Given the description of an element on the screen output the (x, y) to click on. 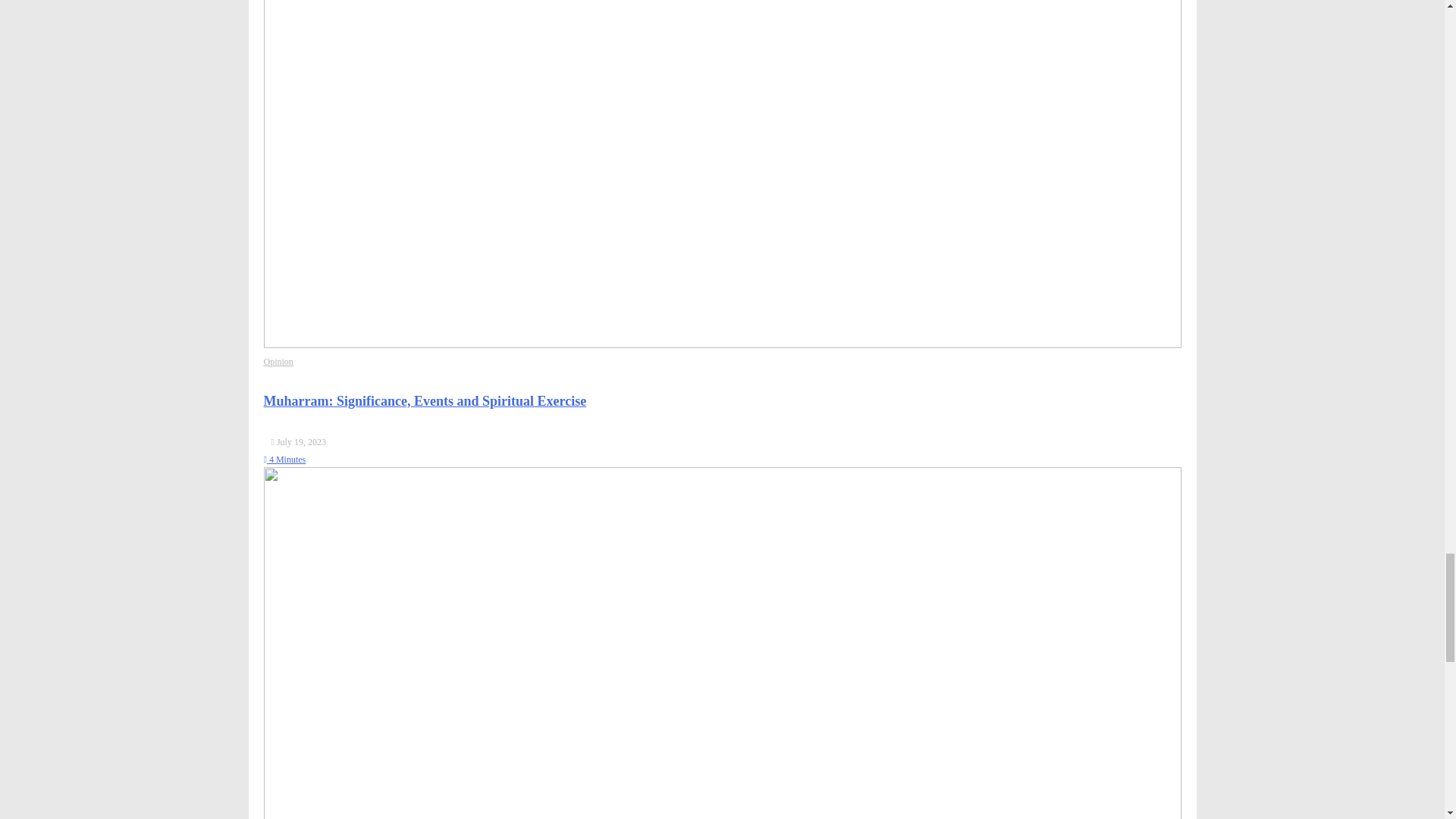
Estimated Reading Time of Article (284, 459)
